Given the description of an element on the screen output the (x, y) to click on. 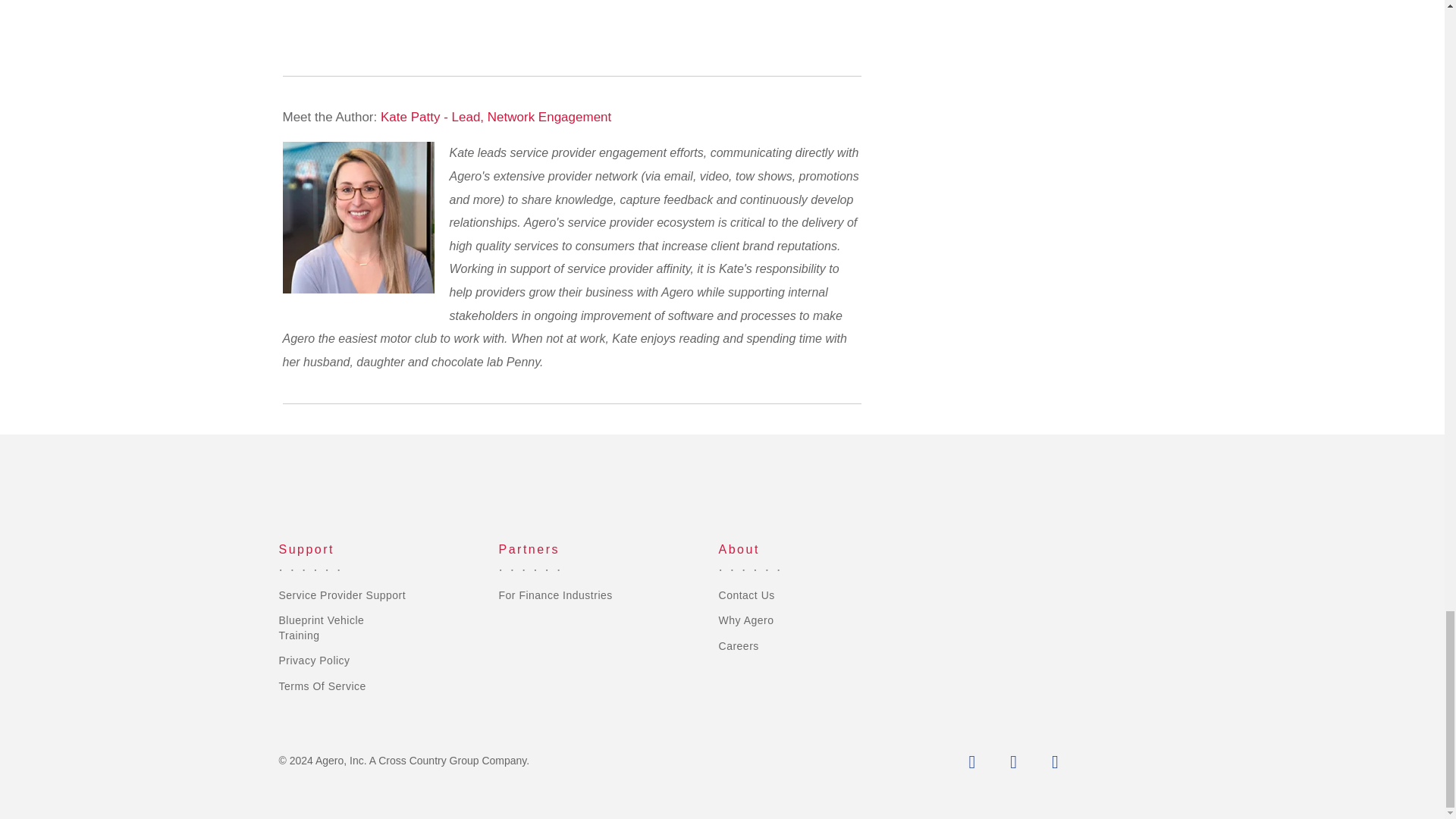
Kate Patty - Lead, Network Engagement (495, 116)
